Given the description of an element on the screen output the (x, y) to click on. 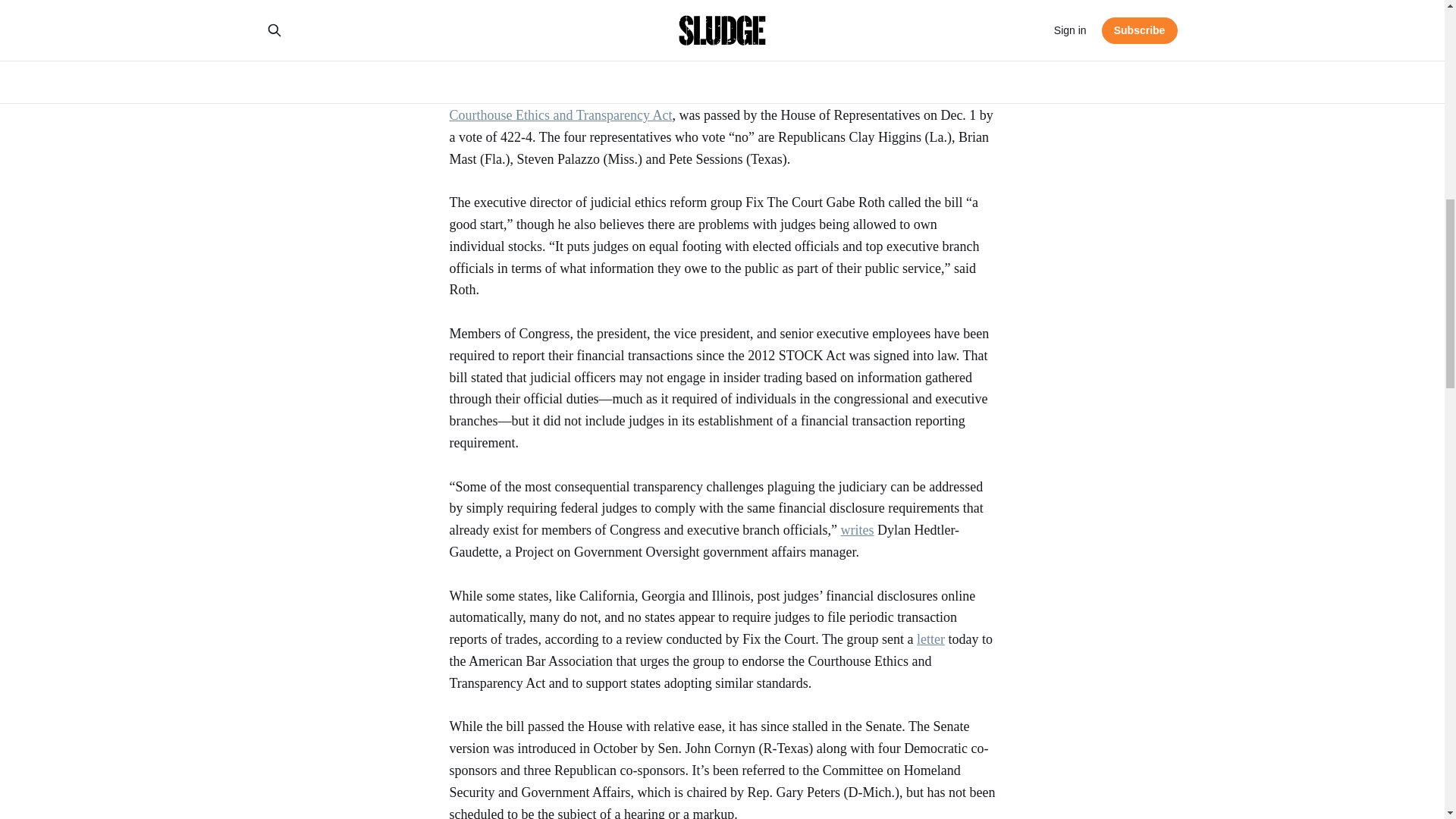
Courthouse Ethics and Transparency Act (559, 114)
writes (856, 529)
letter (930, 639)
